Given the description of an element on the screen output the (x, y) to click on. 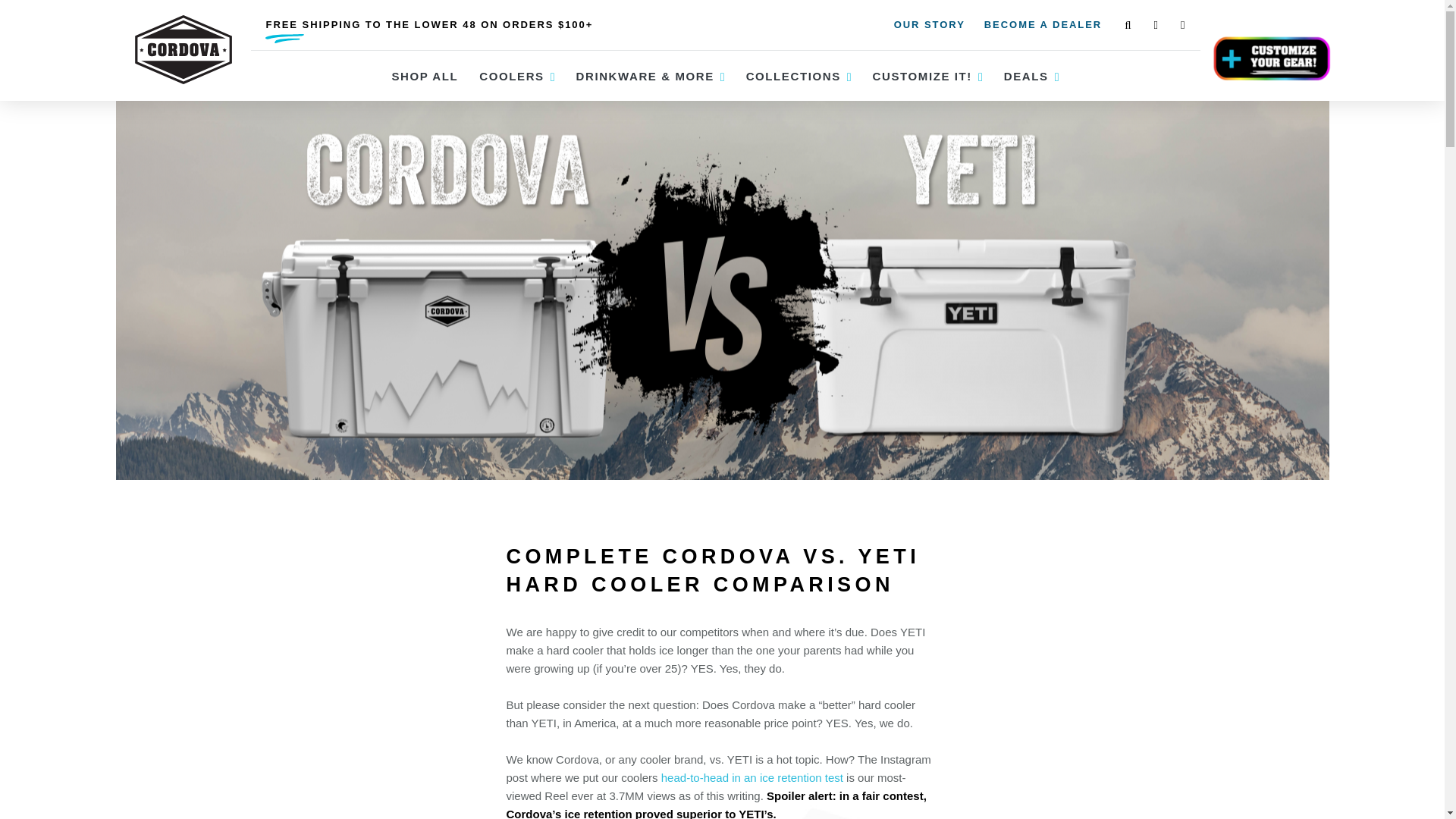
SHOP ALL (424, 75)
COLLECTIONS (793, 75)
COOLERS (511, 75)
CUSTOMIZE IT! (922, 75)
OUR STORY (929, 24)
BECOME A DEALER (1043, 24)
